Given the description of an element on the screen output the (x, y) to click on. 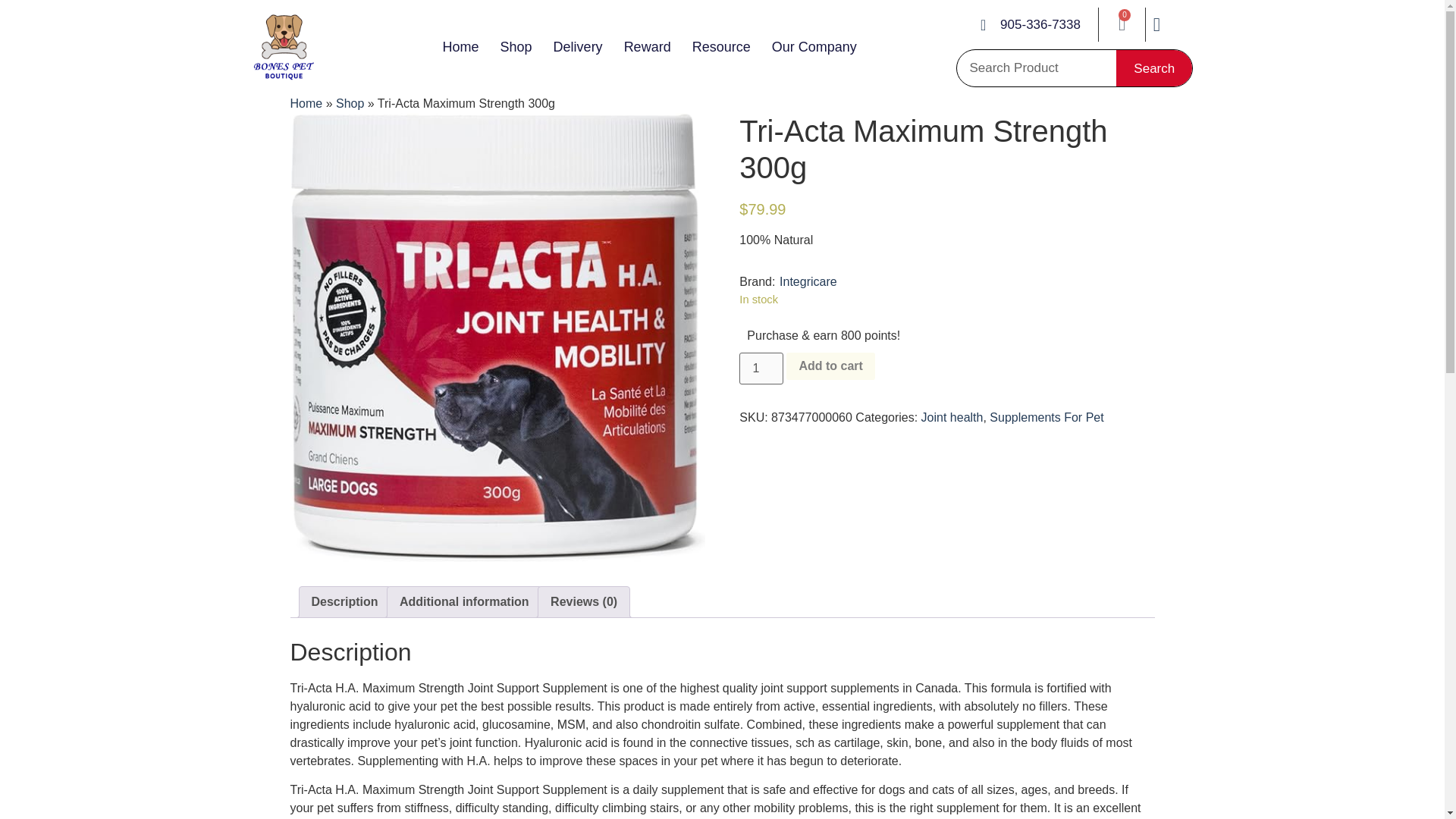
Home (460, 46)
View brand (807, 281)
1 (761, 368)
